Given the description of an element on the screen output the (x, y) to click on. 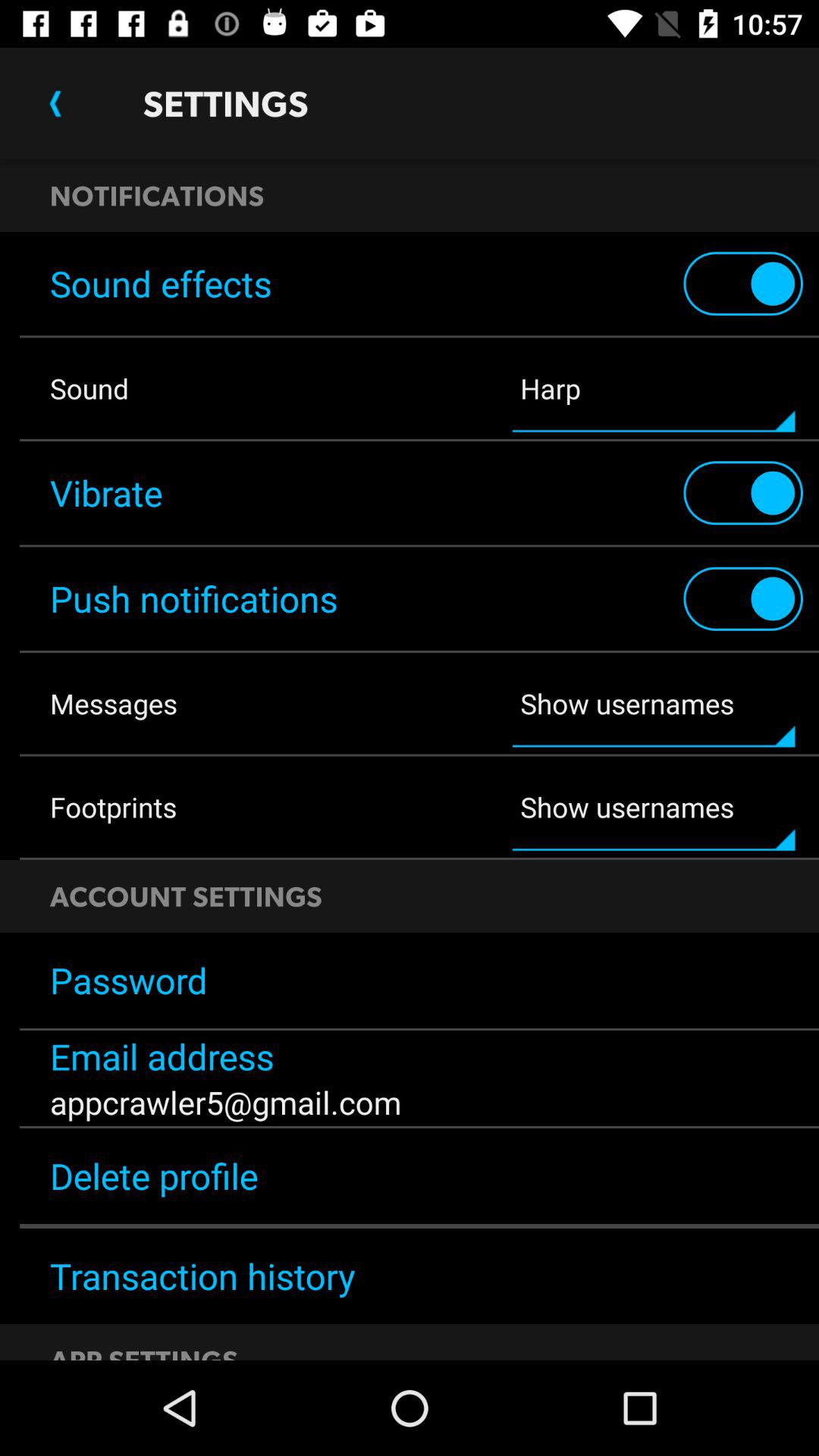
jump until the password icon (409, 980)
